Given the description of an element on the screen output the (x, y) to click on. 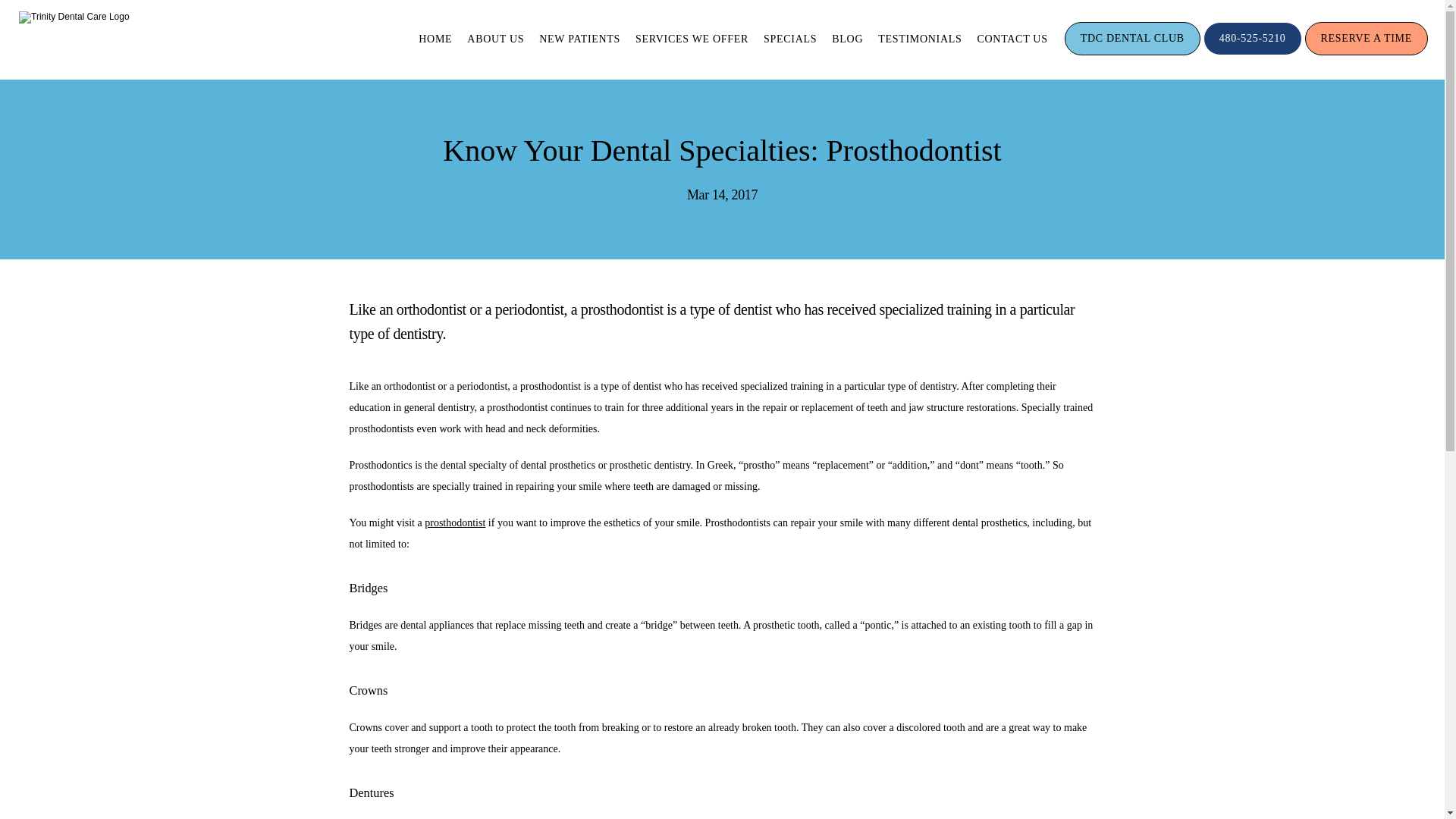
BLOG (847, 39)
TESTIMONIALS (918, 39)
prosthodontist (454, 522)
HOME (435, 39)
TDC DENTAL CLUB (1132, 53)
NEW PATIENTS (579, 39)
SERVICES WE OFFER (691, 39)
SPECIALS (789, 39)
480-525-5210 (1252, 53)
CONTACT US (1011, 39)
RESERVE A TIME (1366, 53)
